Given the description of an element on the screen output the (x, y) to click on. 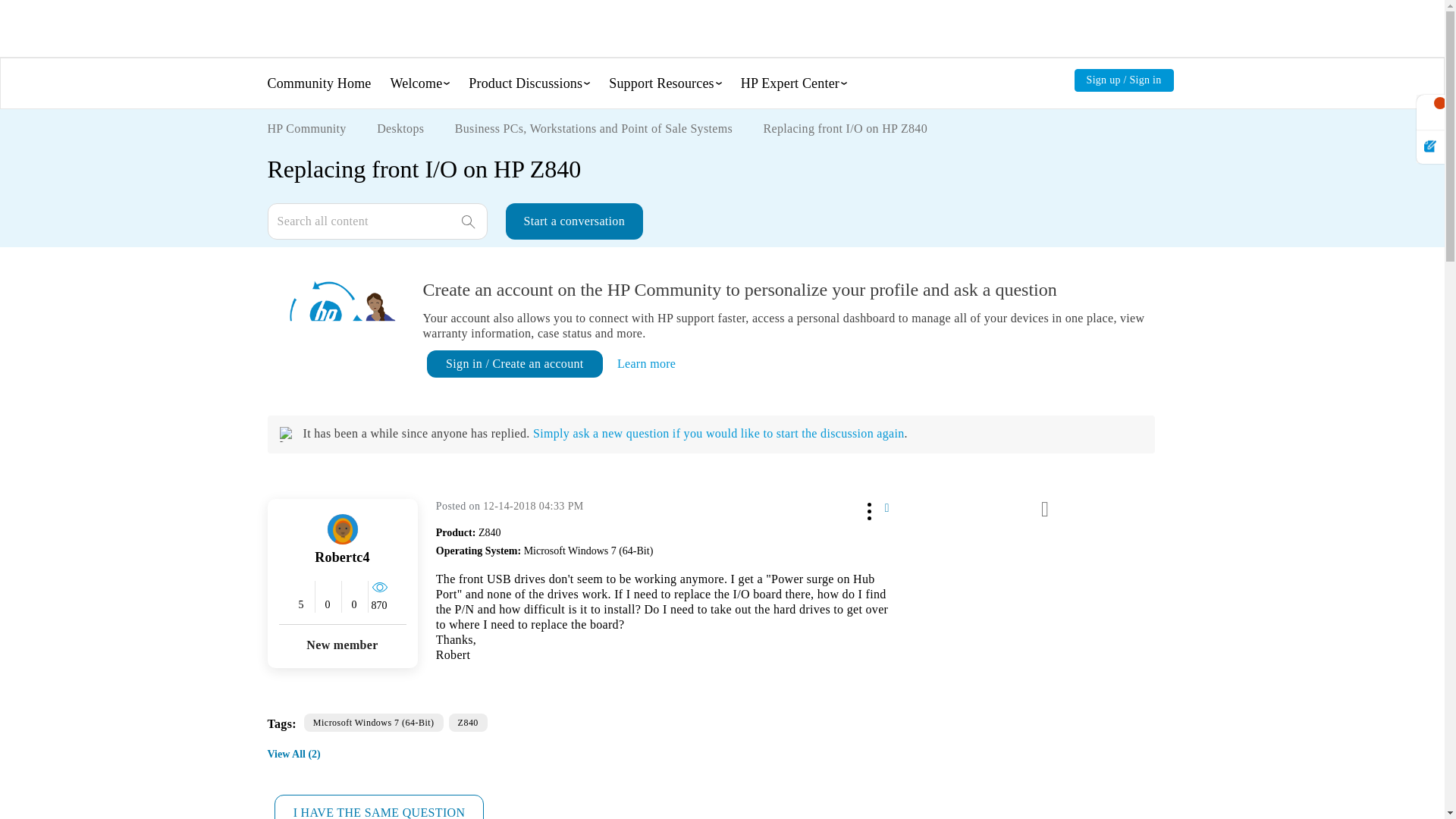
Community Home (318, 82)
Product Discussions (525, 82)
Welcome (416, 82)
Search (376, 221)
robertc4 (342, 529)
Show option menu (867, 508)
